Given the description of an element on the screen output the (x, y) to click on. 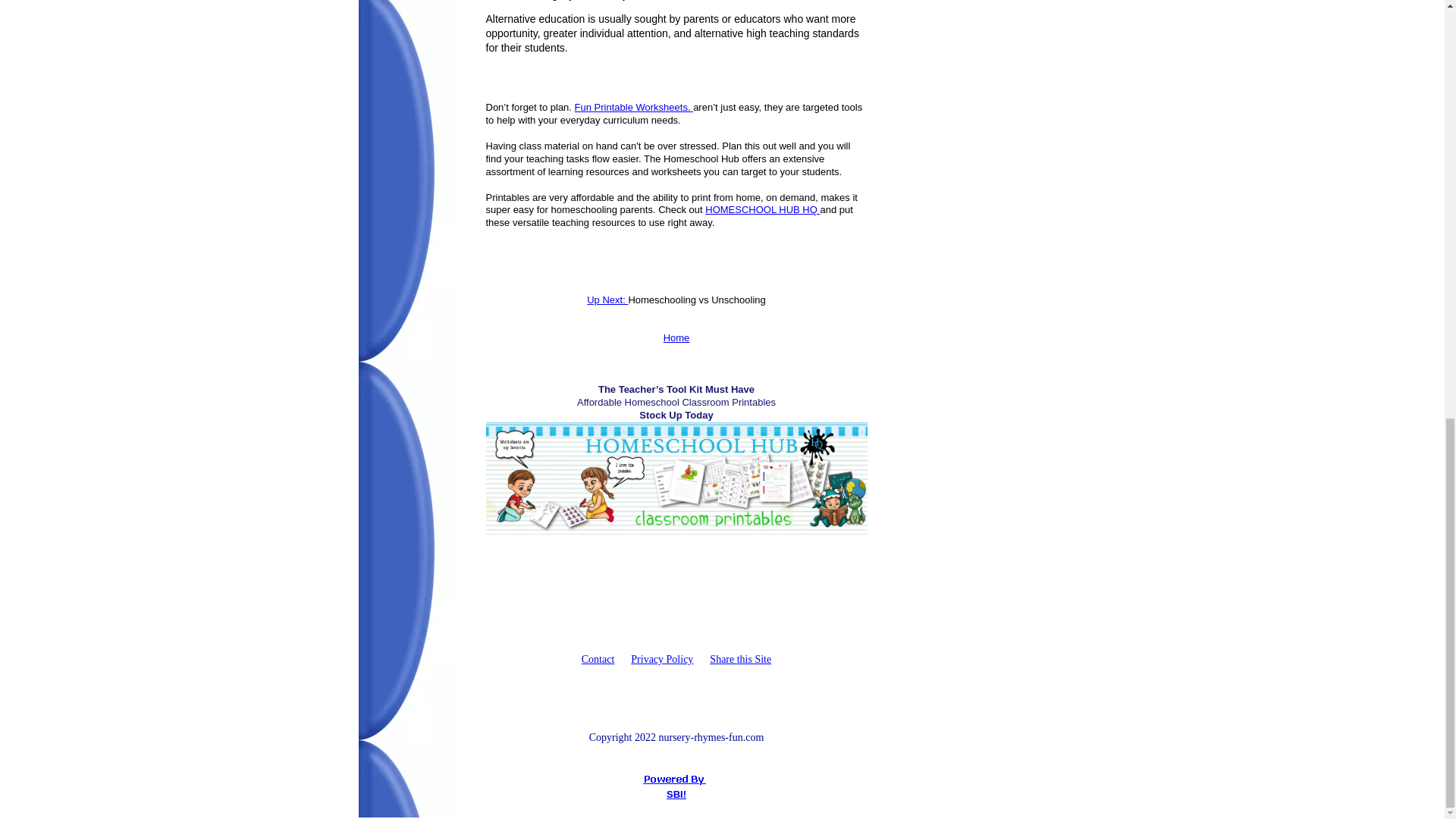
Home (676, 337)
SBI! (675, 794)
Privacy Policy (661, 659)
Up Next: (606, 299)
Share this Site (740, 659)
HOMESCHOOL HUB HQ (761, 209)
Fun Printable Worksheets. (634, 107)
Contact (597, 659)
